Given the description of an element on the screen output the (x, y) to click on. 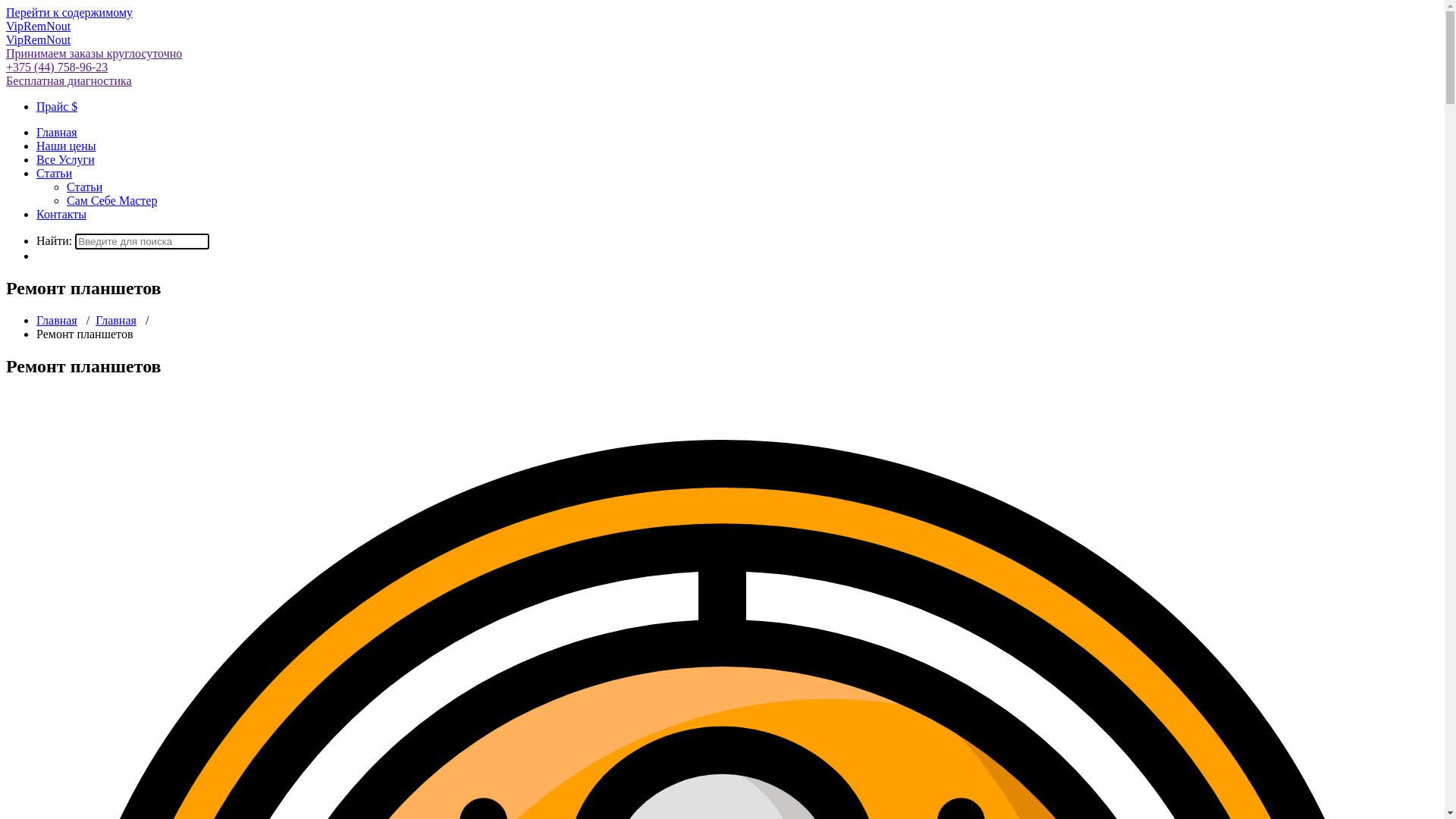
VipRemNout Element type: text (38, 39)
+375 (44) 758-96-23 Element type: text (56, 66)
VipRemNout Element type: text (38, 25)
